Given the description of an element on the screen output the (x, y) to click on. 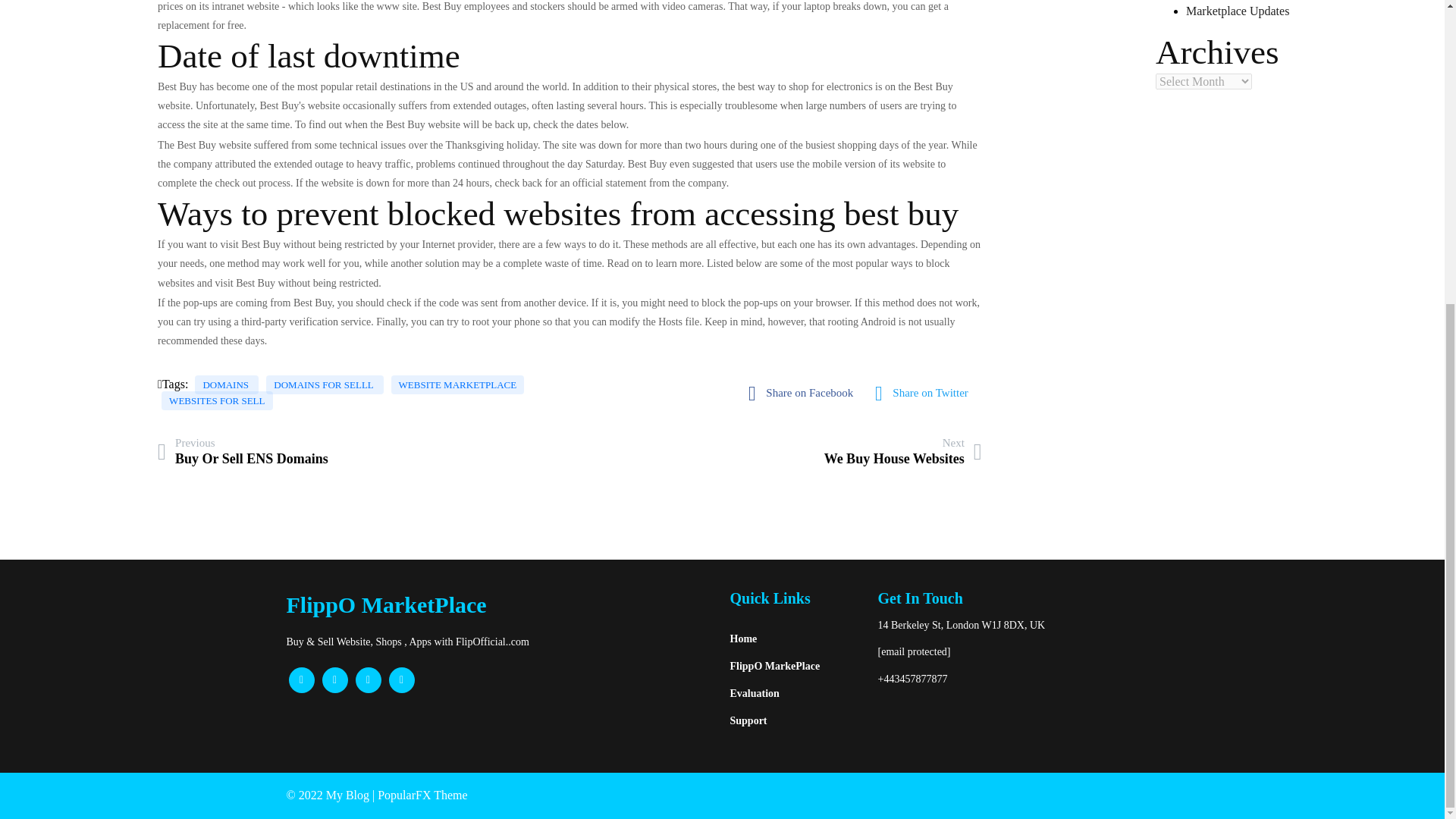
FlippO MarkePlace (795, 666)
WEBSITES FOR SELL (216, 400)
Evaluation (795, 693)
Support (795, 720)
WEBSITE MARKETPLACE (243, 451)
Marketplace Updates (457, 384)
DOMAINS FOR SELLL (1237, 10)
Share on Twitter (902, 451)
